Given the description of an element on the screen output the (x, y) to click on. 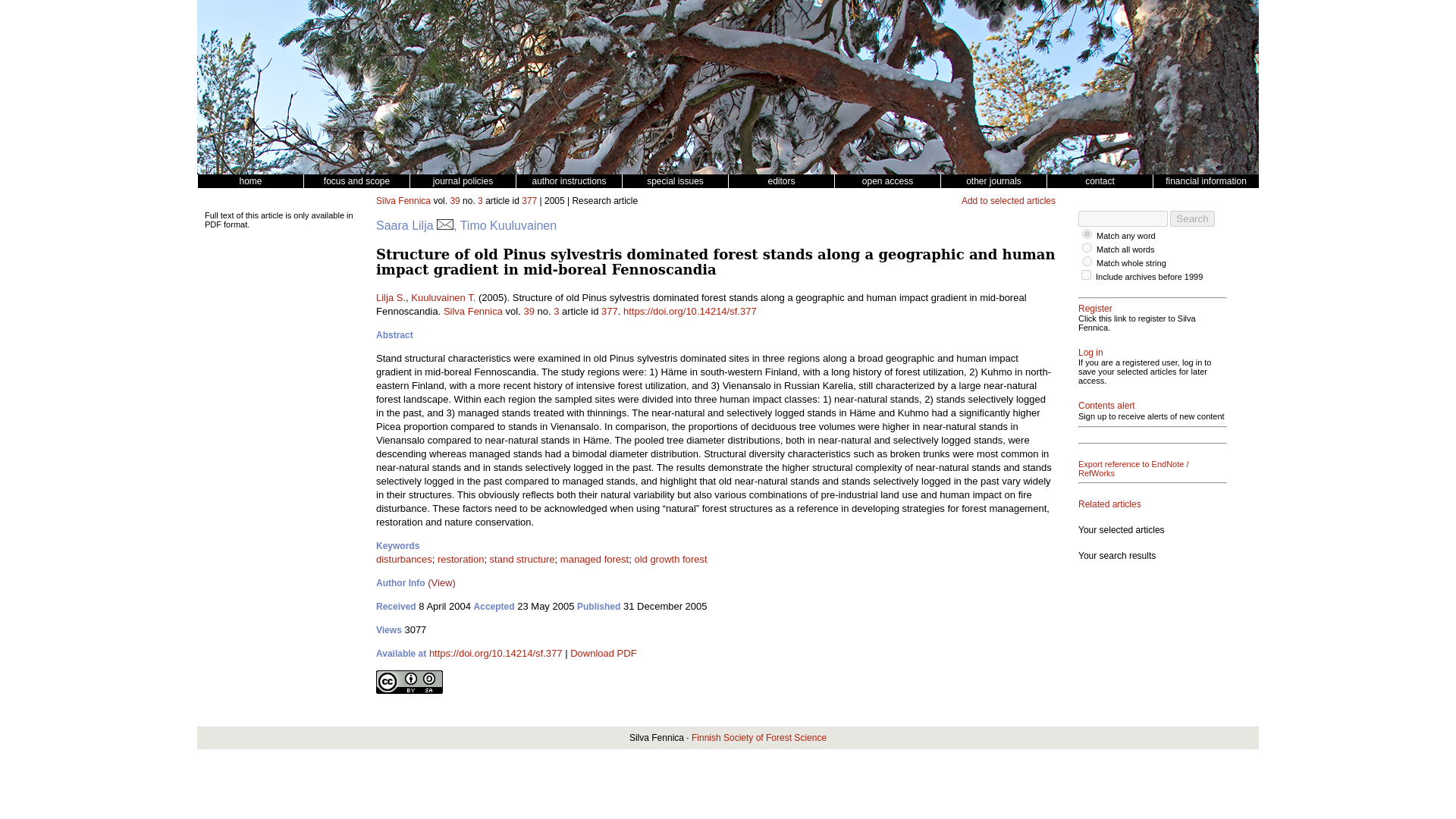
all (1086, 261)
on (1085, 275)
377 (529, 200)
Corresponding author (444, 225)
editors (781, 181)
other journals (993, 181)
journal policies (462, 181)
Search (1192, 218)
Silva Fennica (402, 200)
author instructions (568, 181)
contact (1099, 181)
and (1086, 247)
focus and scope (355, 181)
open access (887, 181)
39 (454, 200)
